Given the description of an element on the screen output the (x, y) to click on. 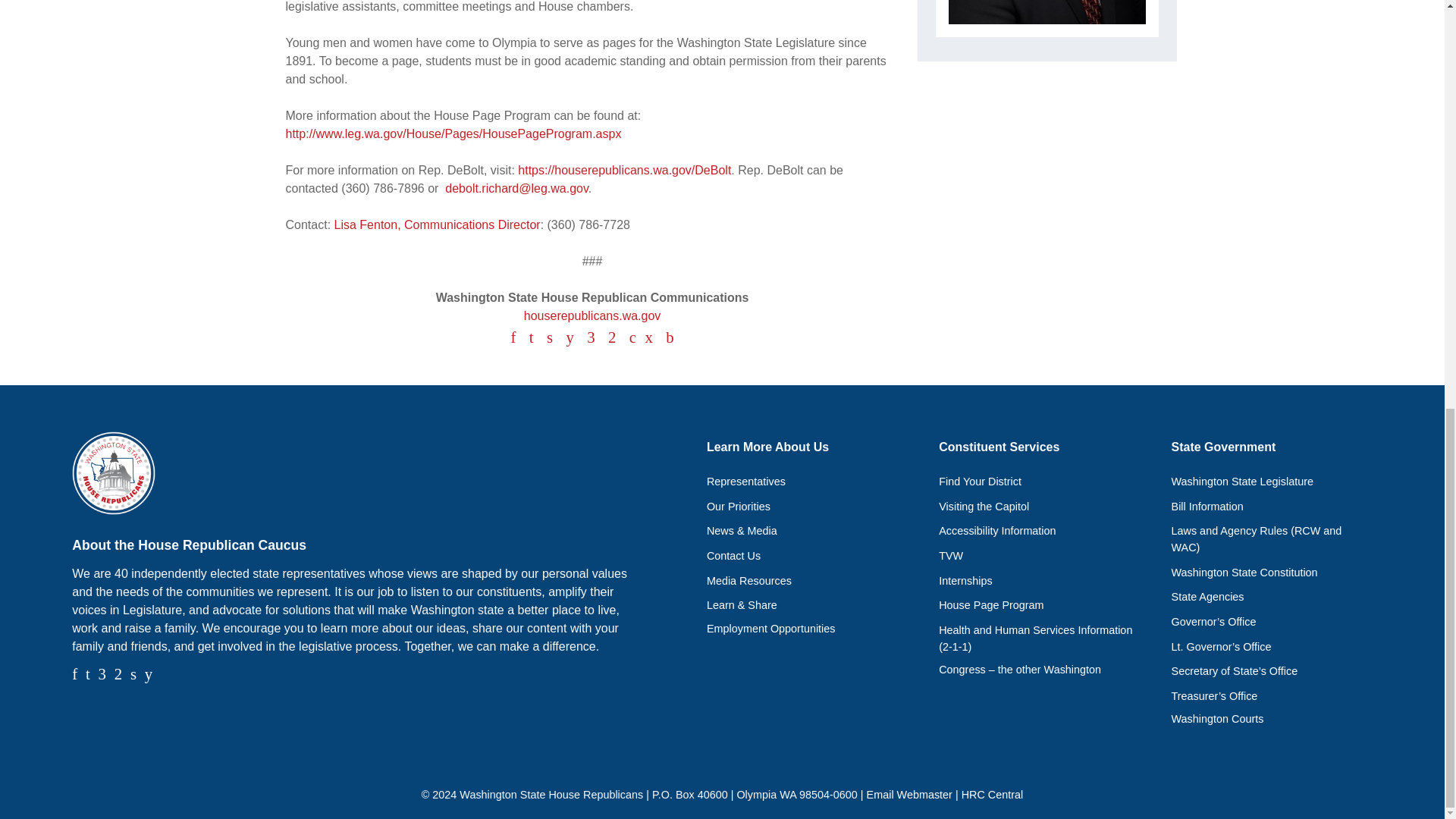
Lisa Fenton, Communications Director (437, 224)
houserepublicans.wa.gov (592, 315)
